Given the description of an element on the screen output the (x, y) to click on. 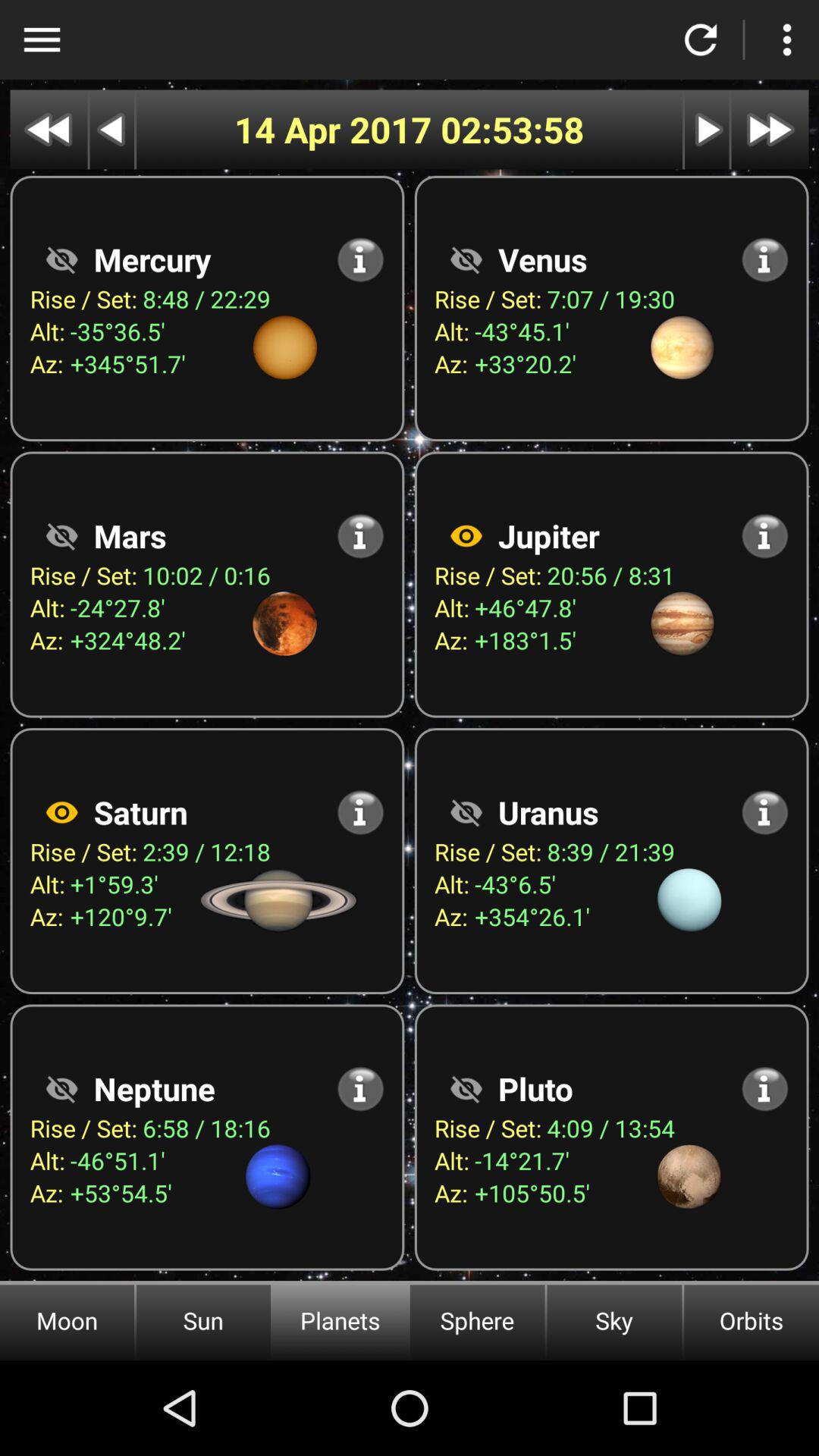
display more information (764, 1088)
